Given the description of an element on the screen output the (x, y) to click on. 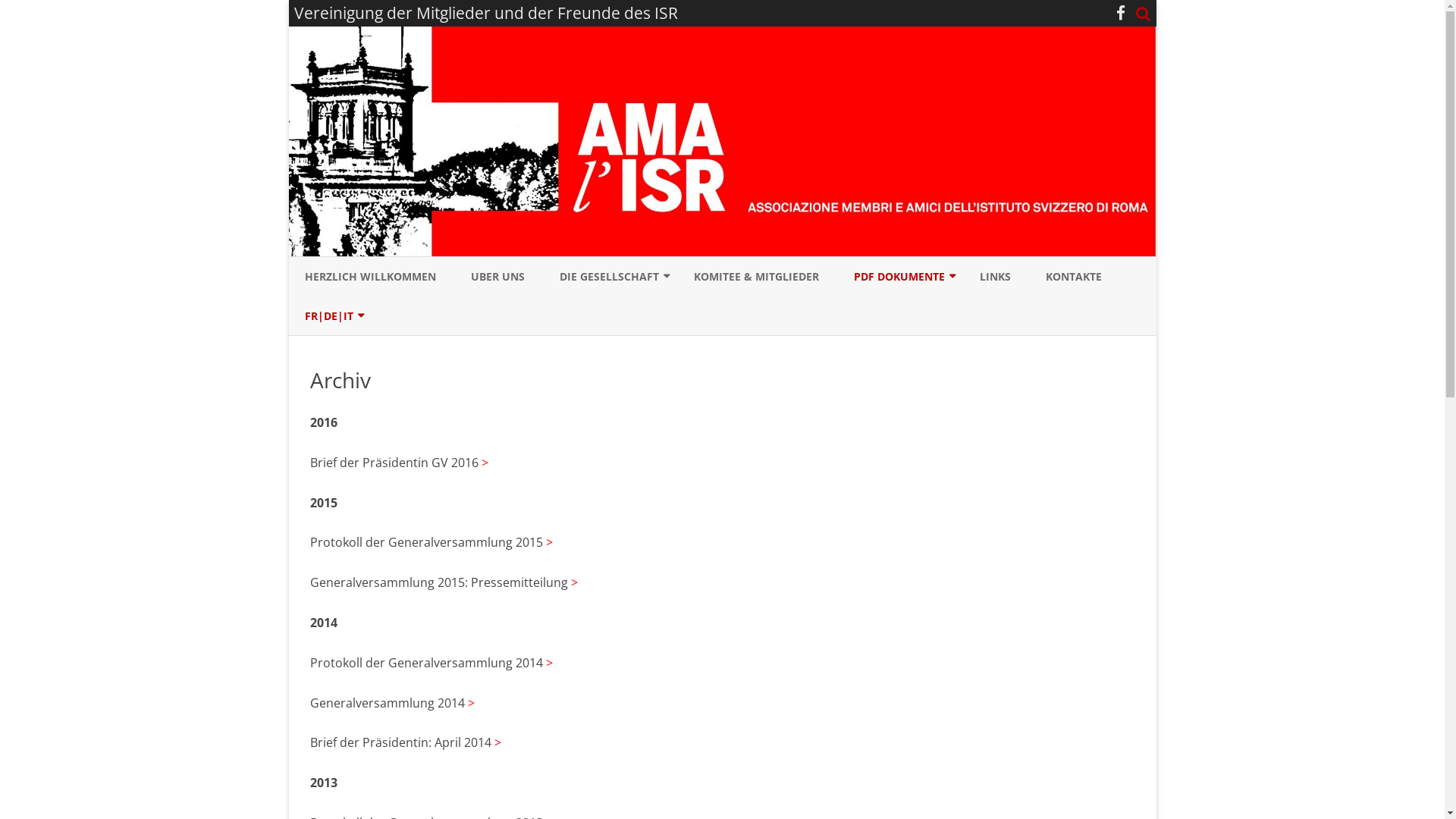
DIE GESELLSCHAFT Element type: text (608, 276)
KONTAKTE Element type: text (1072, 276)
HERZLICH WILLKOMMEN Element type: text (370, 276)
FR|DE|IT Element type: text (328, 315)
STATUTEN Element type: text (635, 311)
LINKS Element type: text (994, 276)
PDF DOKUMENTE Element type: text (898, 276)
Facebook Element type: hover (1120, 12)
> Element type: text (483, 462)
Skip to content Element type: text (721, 256)
FLYER Element type: text (929, 311)
UBER UNS Element type: text (497, 276)
> Element type: text (549, 662)
KOMITEE & MITGLIEDER Element type: text (755, 276)
> Element type: text (573, 582)
> Element type: text (549, 541)
> Element type: text (497, 742)
> Element type: text (470, 702)
